Given the description of an element on the screen output the (x, y) to click on. 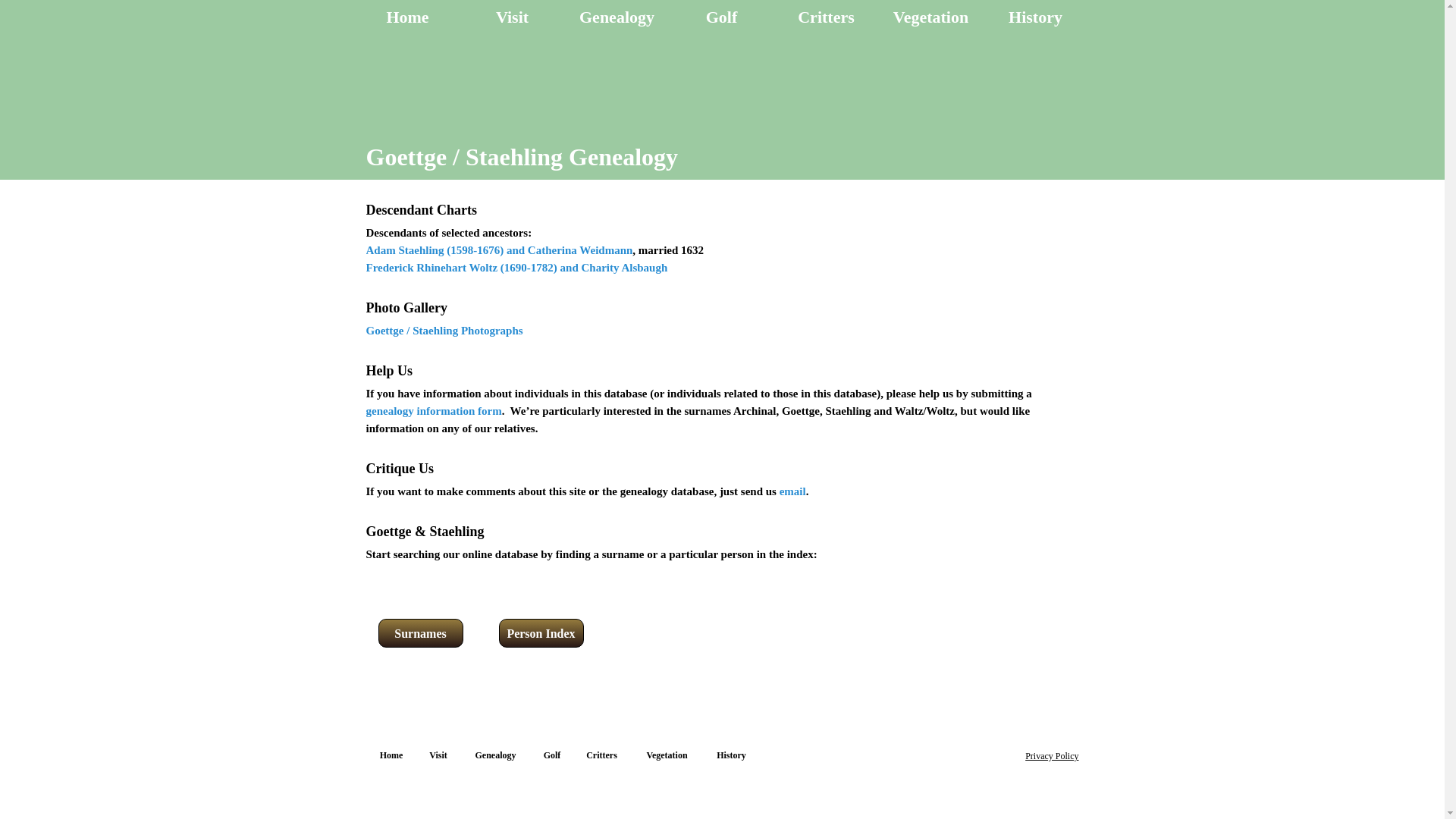
email (792, 491)
Surnames (420, 634)
Person Index (540, 634)
genealogy information form (432, 410)
Privacy Policy (1051, 756)
